Given the description of an element on the screen output the (x, y) to click on. 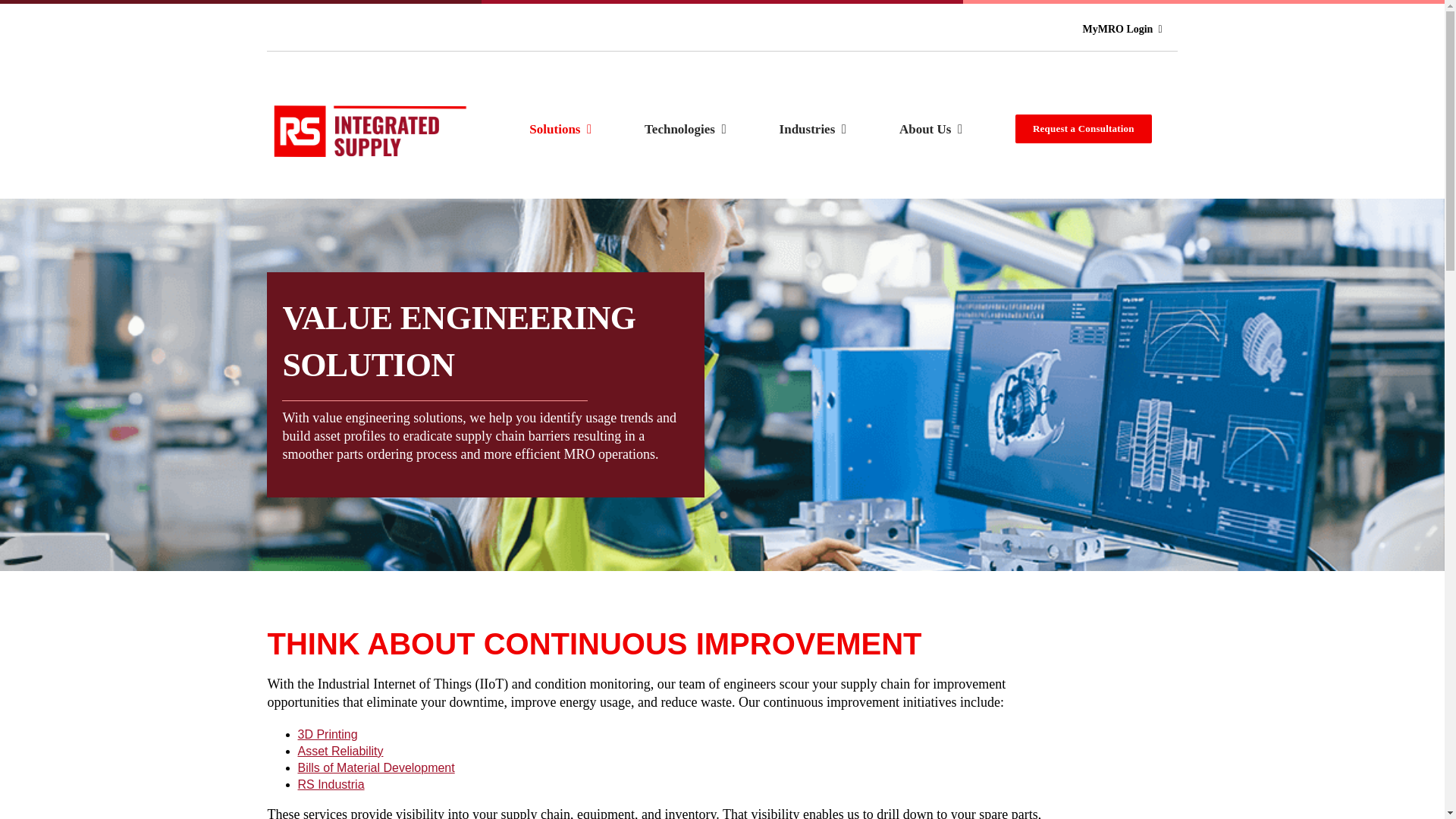
Solutions (560, 128)
Industries (811, 128)
Technologies (685, 128)
MyMRO Login (1128, 29)
